Given the description of an element on the screen output the (x, y) to click on. 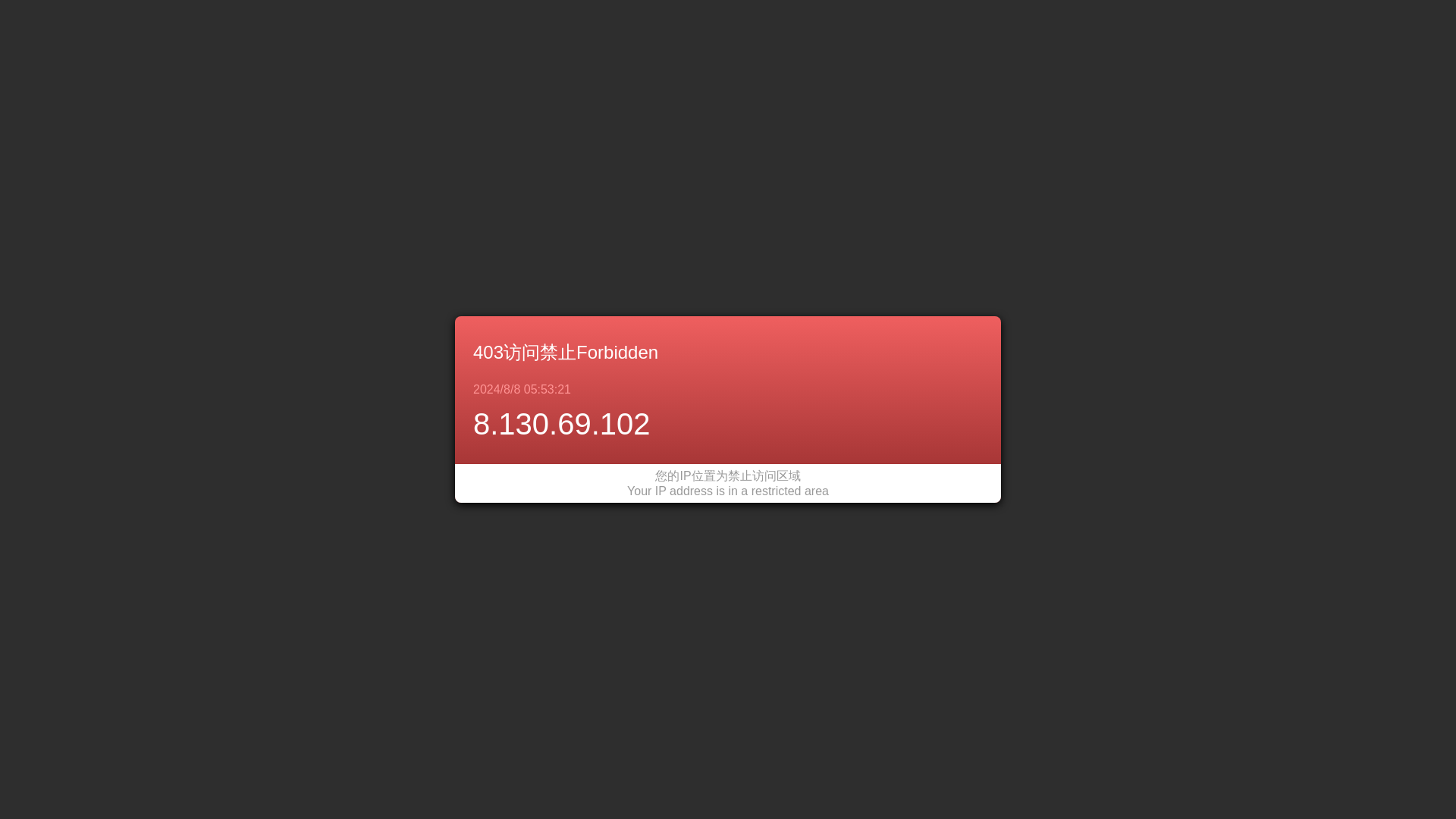
Casino games (827, 31)
WTGBET (459, 93)
slots (510, 93)
Experience the thrill of legendary slots (465, 231)
Play Real Money Online Slots at Bovegas (465, 427)
Freemarket receives licence from the Central Bank of Ireland (788, 767)
Freemarket receives licence from the Cen (465, 481)
Play Lucky Duck Slots Online for Free an (465, 176)
Table games (991, 31)
Casino games (656, 557)
